Given the description of an element on the screen output the (x, y) to click on. 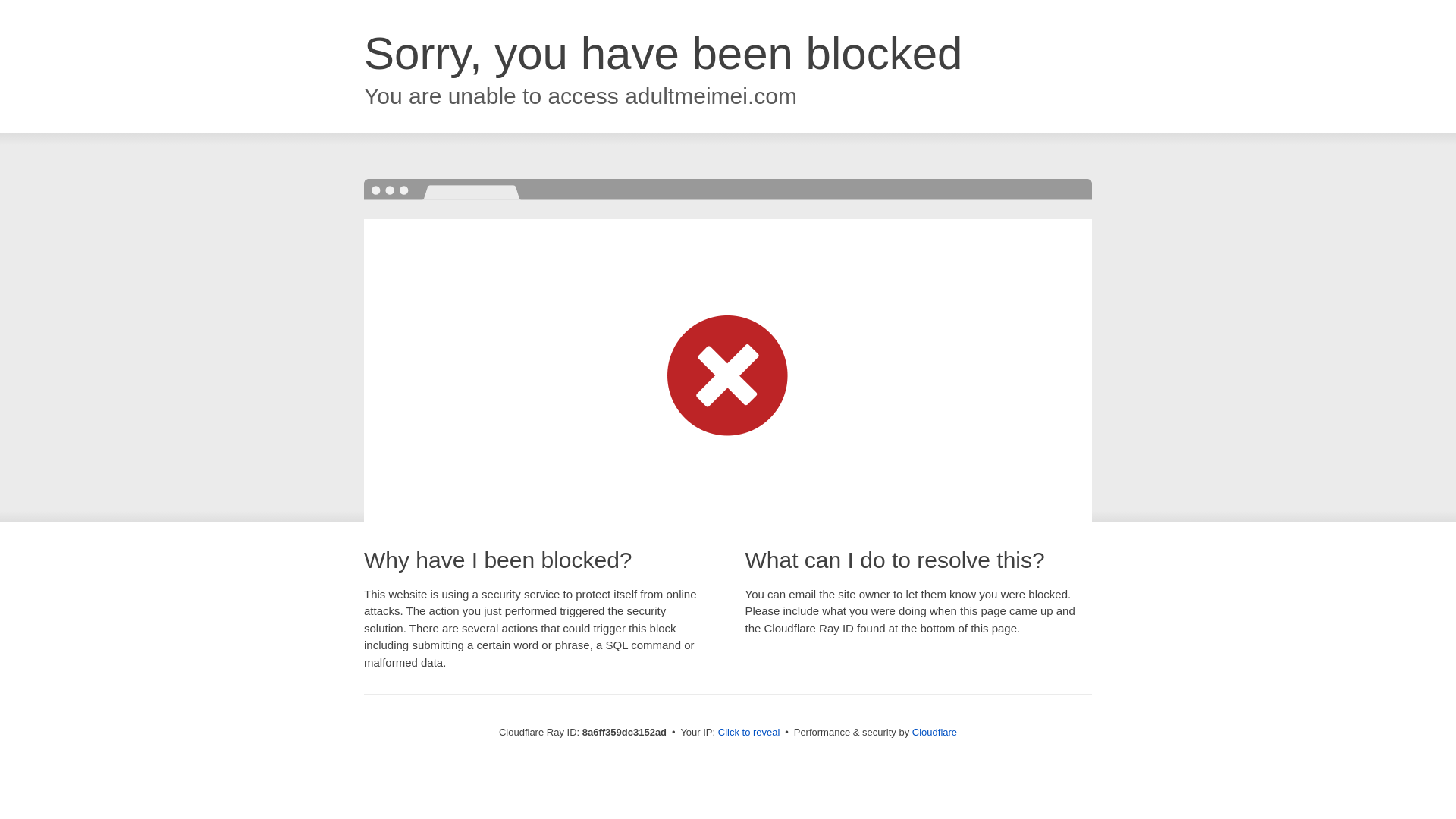
Click to reveal (748, 732)
Cloudflare (934, 731)
